Given the description of an element on the screen output the (x, y) to click on. 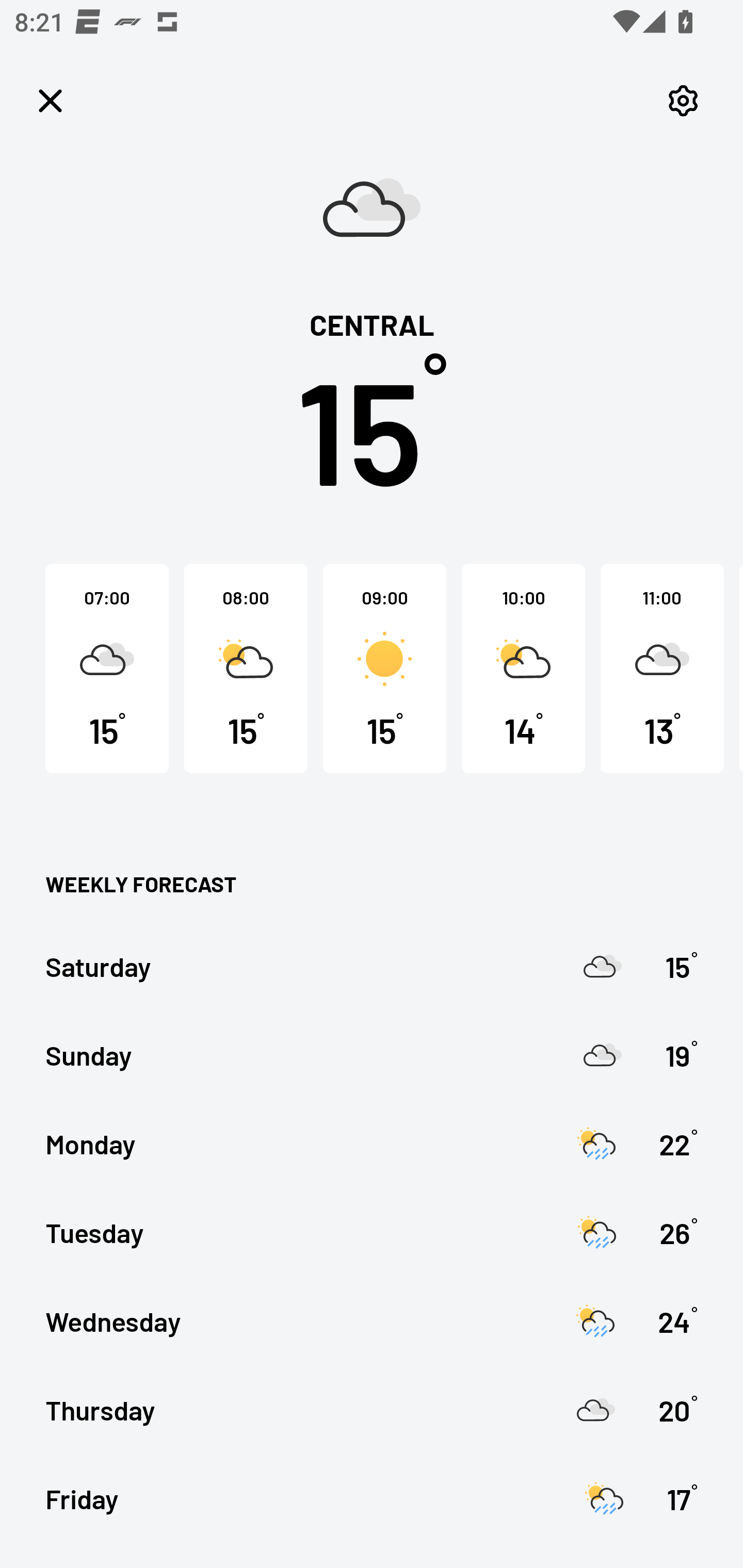
Leading Icon (50, 101)
Weather Notifications Settings (683, 101)
